Given the description of an element on the screen output the (x, y) to click on. 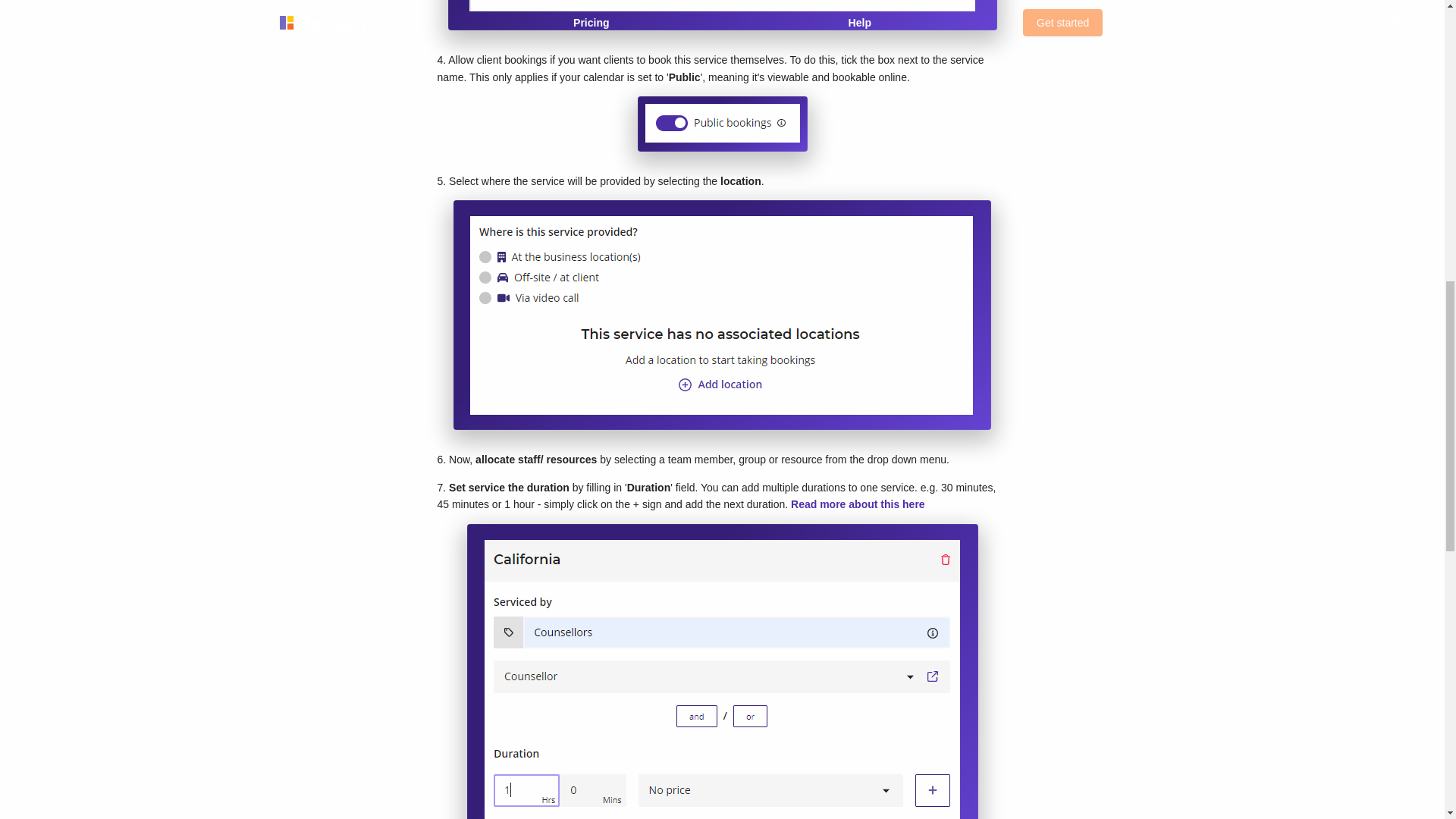
Read more about this here (857, 503)
